Given the description of an element on the screen output the (x, y) to click on. 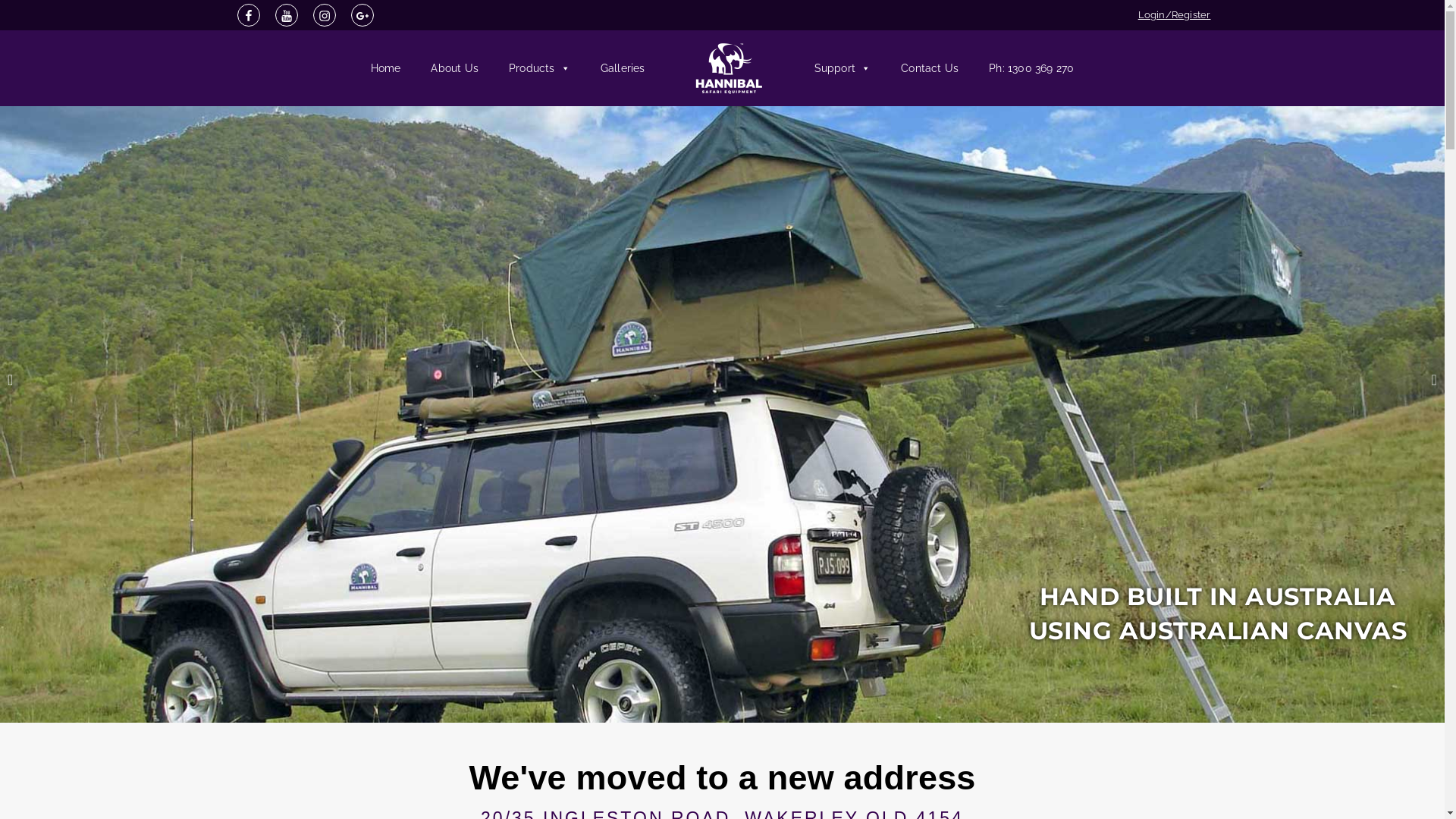
Contact Us Element type: text (929, 68)
HANNIBAL SAFARI EQUIPMENT Element type: text (252, 122)
About Us Element type: text (454, 68)
Products Element type: text (539, 68)
Ph: 1300 369 270 Element type: text (1030, 68)
Home Element type: text (385, 68)
Galleries Element type: text (622, 68)
Login/Register Element type: text (1174, 14)
Support Element type: text (842, 68)
